Given the description of an element on the screen output the (x, y) to click on. 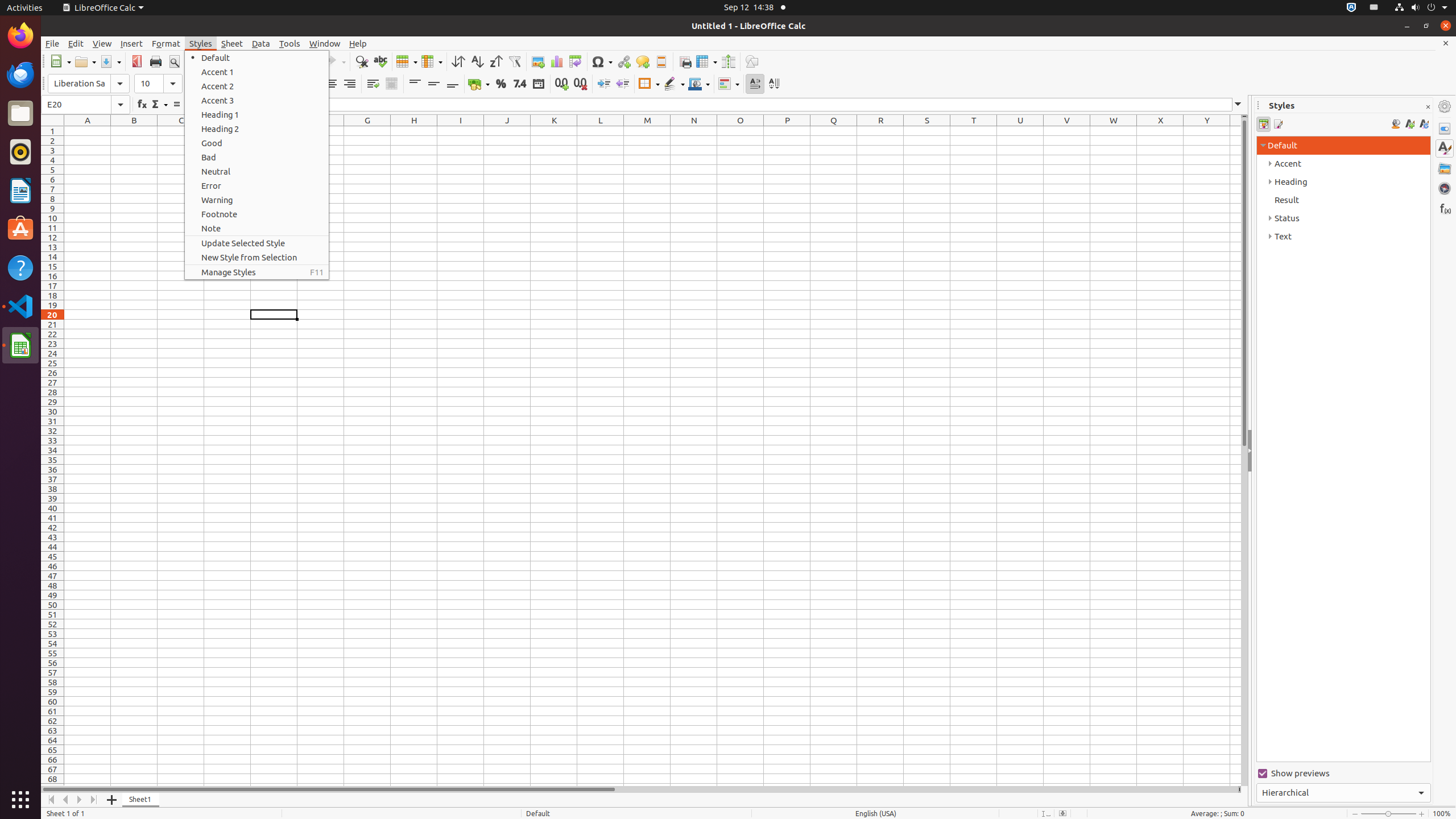
Thunderbird Mail Element type: push-button (20, 74)
Font Size Element type: combo-box (158, 83)
Sort Element type: push-button (457, 61)
Heading 2 Element type: radio-menu-item (256, 128)
Print Area Element type: push-button (684, 61)
